Given the description of an element on the screen output the (x, y) to click on. 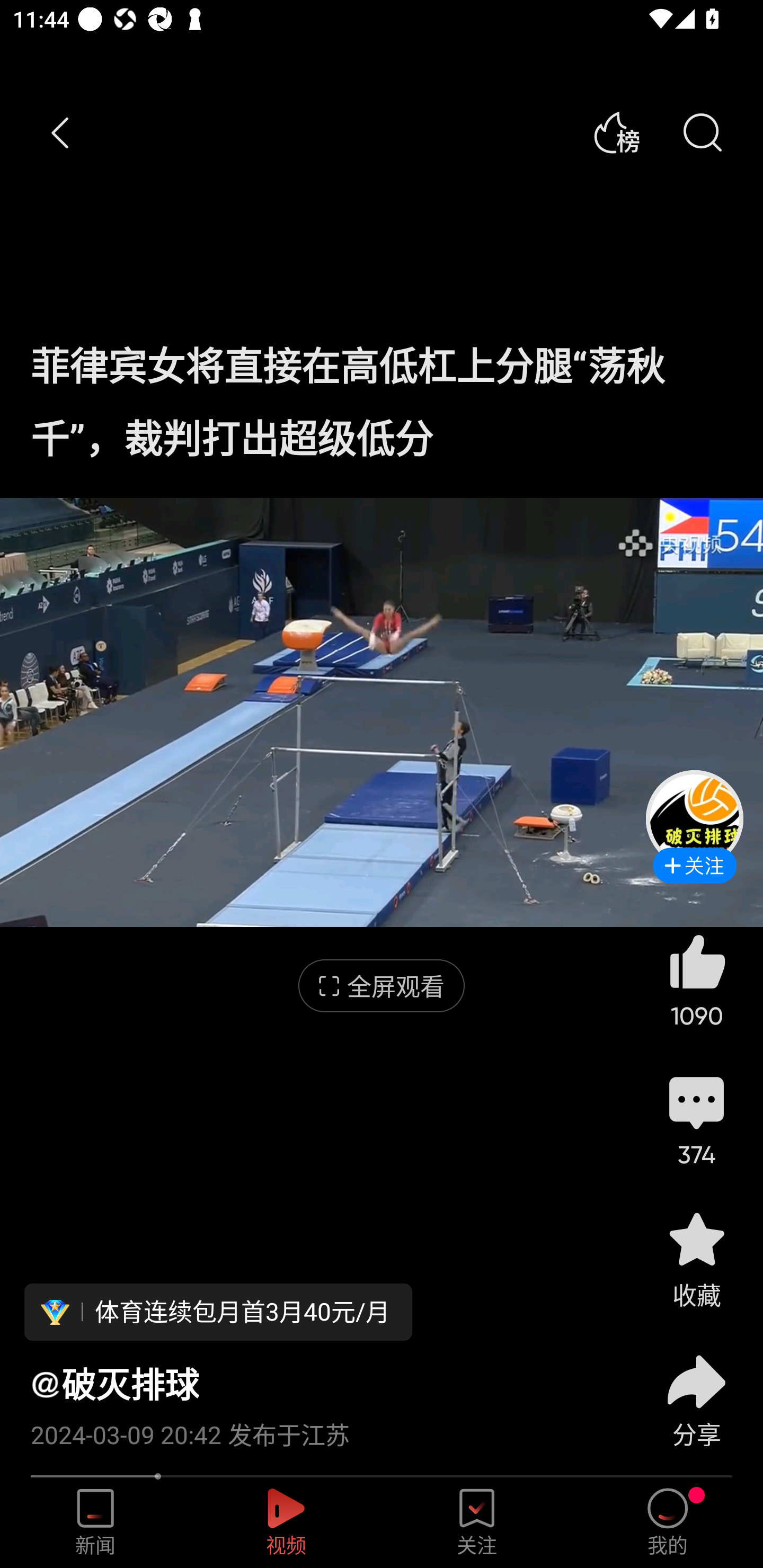
 返回 (60, 133)
 热榜 (616, 133)
 搜索 (701, 133)
赞 1090 (696, 979)
全屏观看 (381, 985)
评论  374 (696, 1118)
收藏 (696, 1258)
体育连续包月首3月40元/月 (218, 1312)
分享  分享 (696, 1389)
破灭排球 (114, 1383)
2024-03-09 20:42 发布于江苏 (321, 1428)
